Given the description of an element on the screen output the (x, y) to click on. 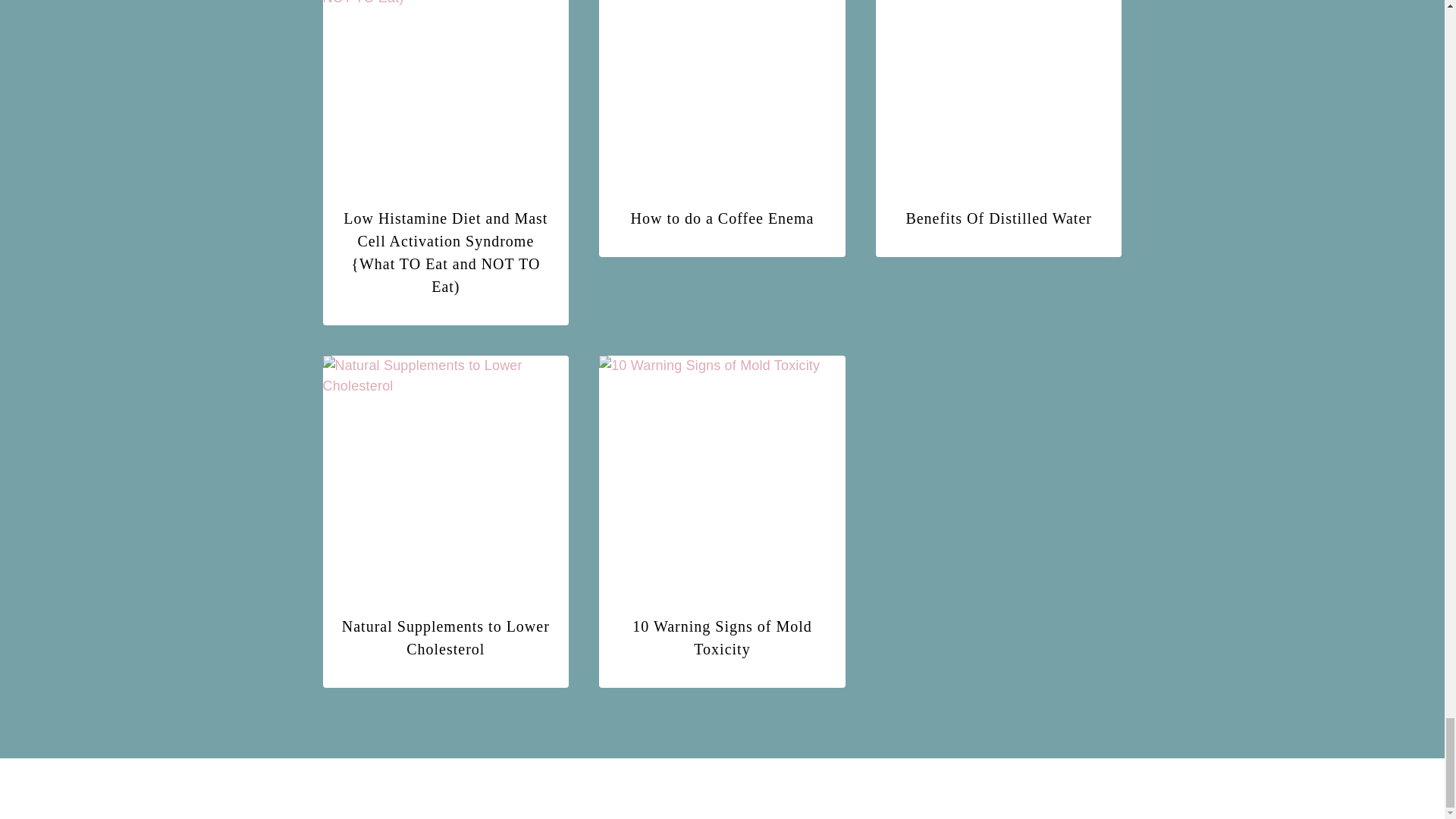
Natural Supplements to Lower Cholesterol (446, 637)
Benefits Of Distilled Water (998, 217)
How to do a Coffee Enema (721, 217)
